Given the description of an element on the screen output the (x, y) to click on. 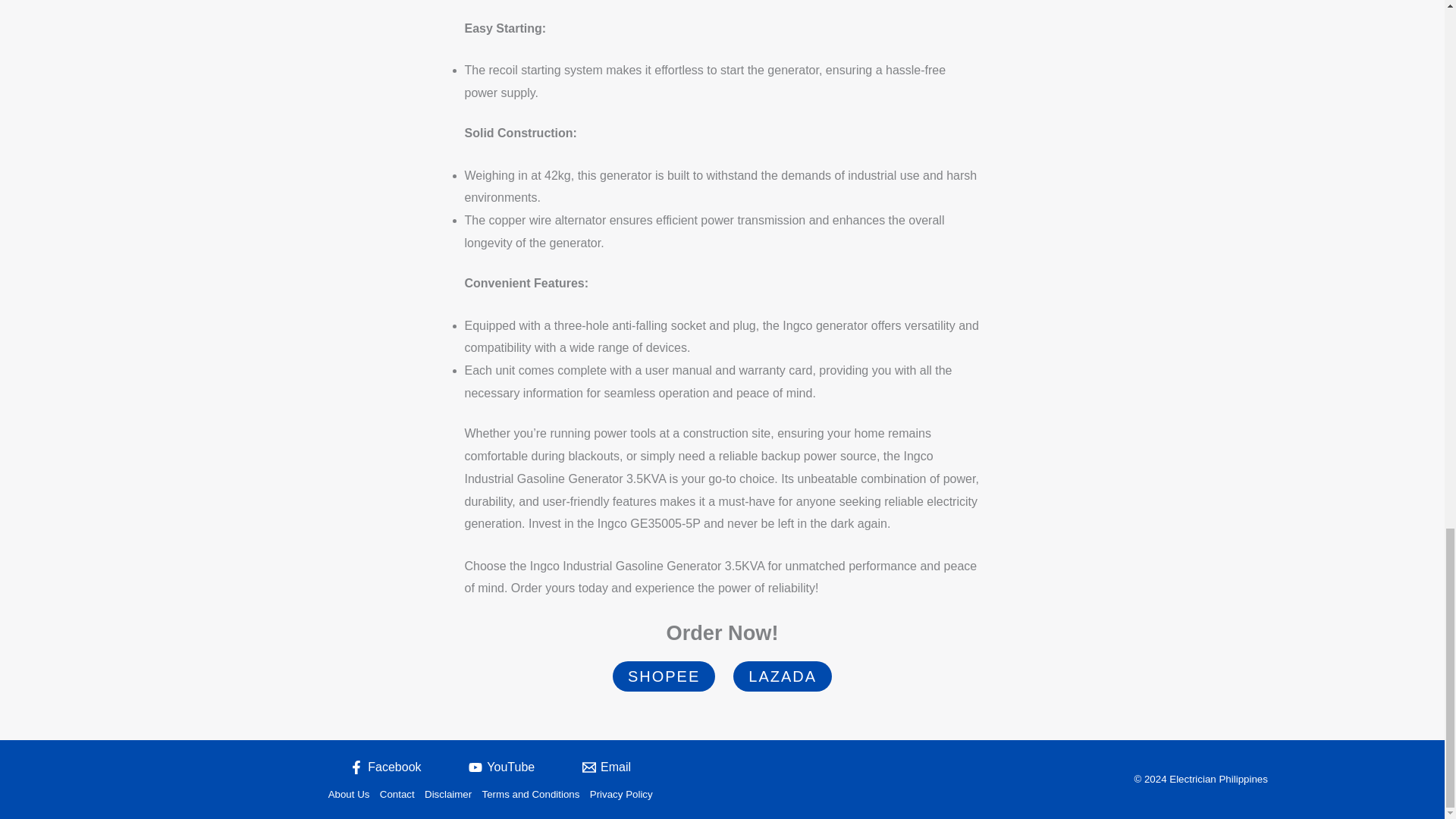
Contact (396, 794)
SHOPEE (663, 675)
YouTube (502, 766)
LAZADA (782, 675)
About Us (351, 794)
Terms and Conditions (531, 794)
Facebook (385, 766)
Disclaimer (448, 794)
Privacy Policy (618, 794)
Email (607, 766)
